Given the description of an element on the screen output the (x, y) to click on. 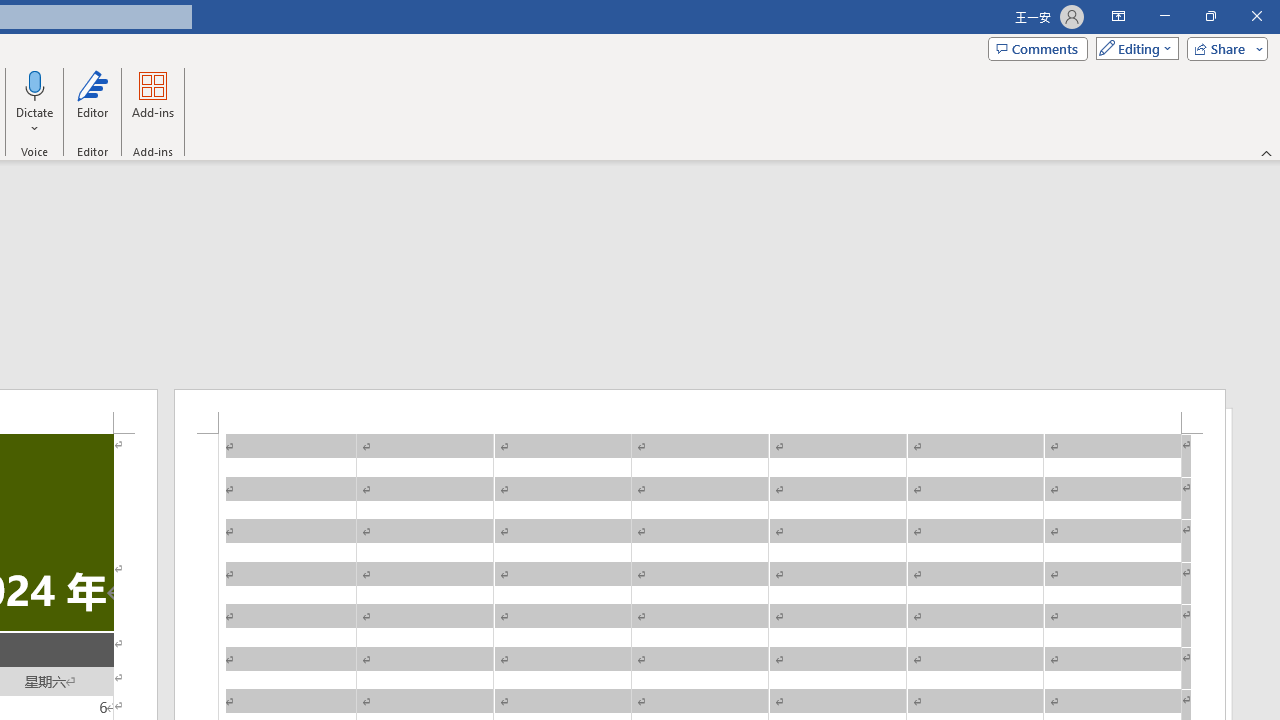
Close (1256, 16)
Ribbon Display Options (1118, 16)
Mode (1133, 47)
Header -Section 1- (700, 411)
Dictate (35, 84)
More Options (35, 121)
Dictate (35, 102)
Minimize (1164, 16)
Restore Down (1210, 16)
Collapse the Ribbon (1267, 152)
Comments (1038, 48)
Share (1223, 48)
